Given the description of an element on the screen output the (x, y) to click on. 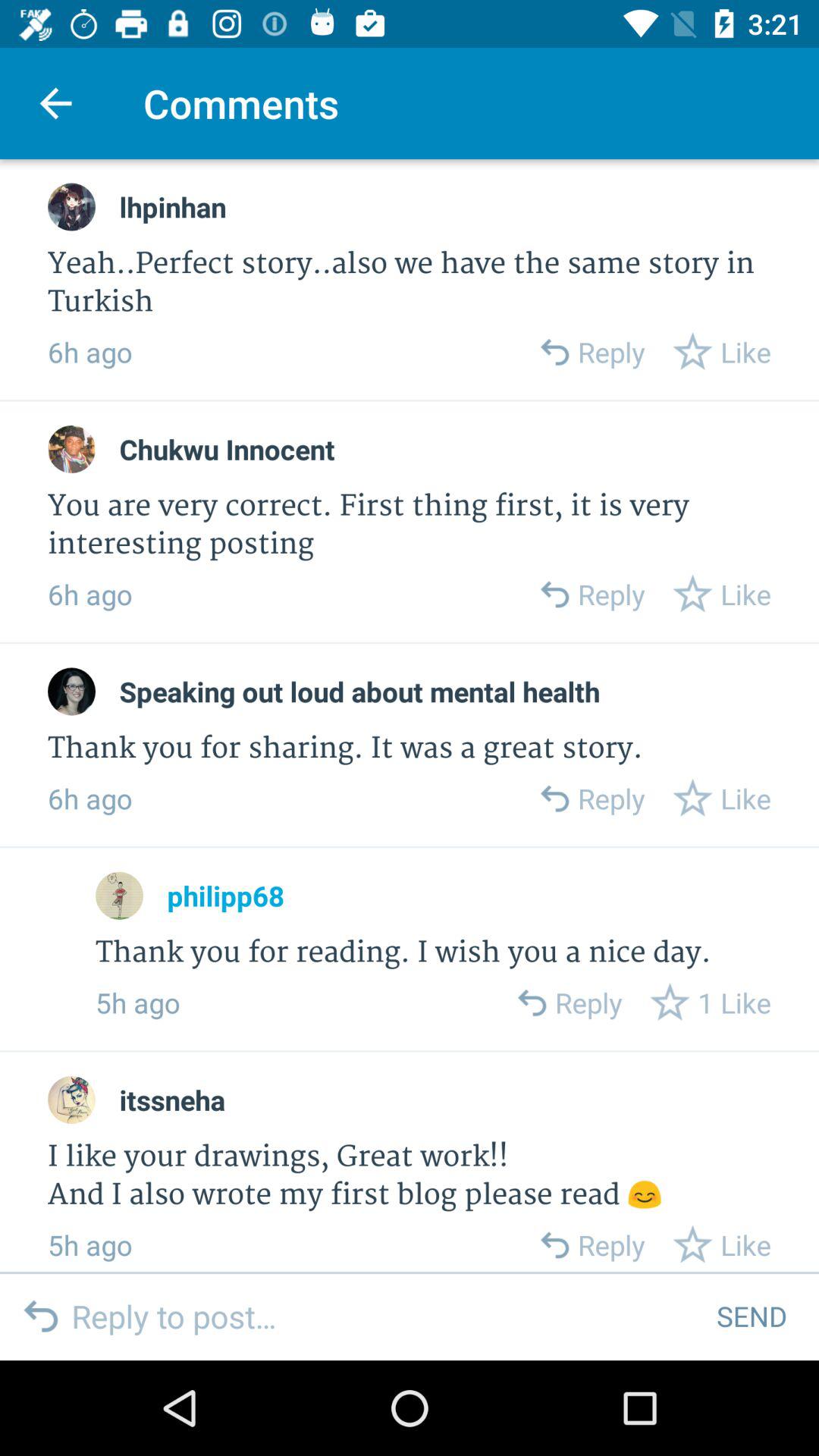
tap item above the i like your icon (172, 1099)
